Given the description of an element on the screen output the (x, y) to click on. 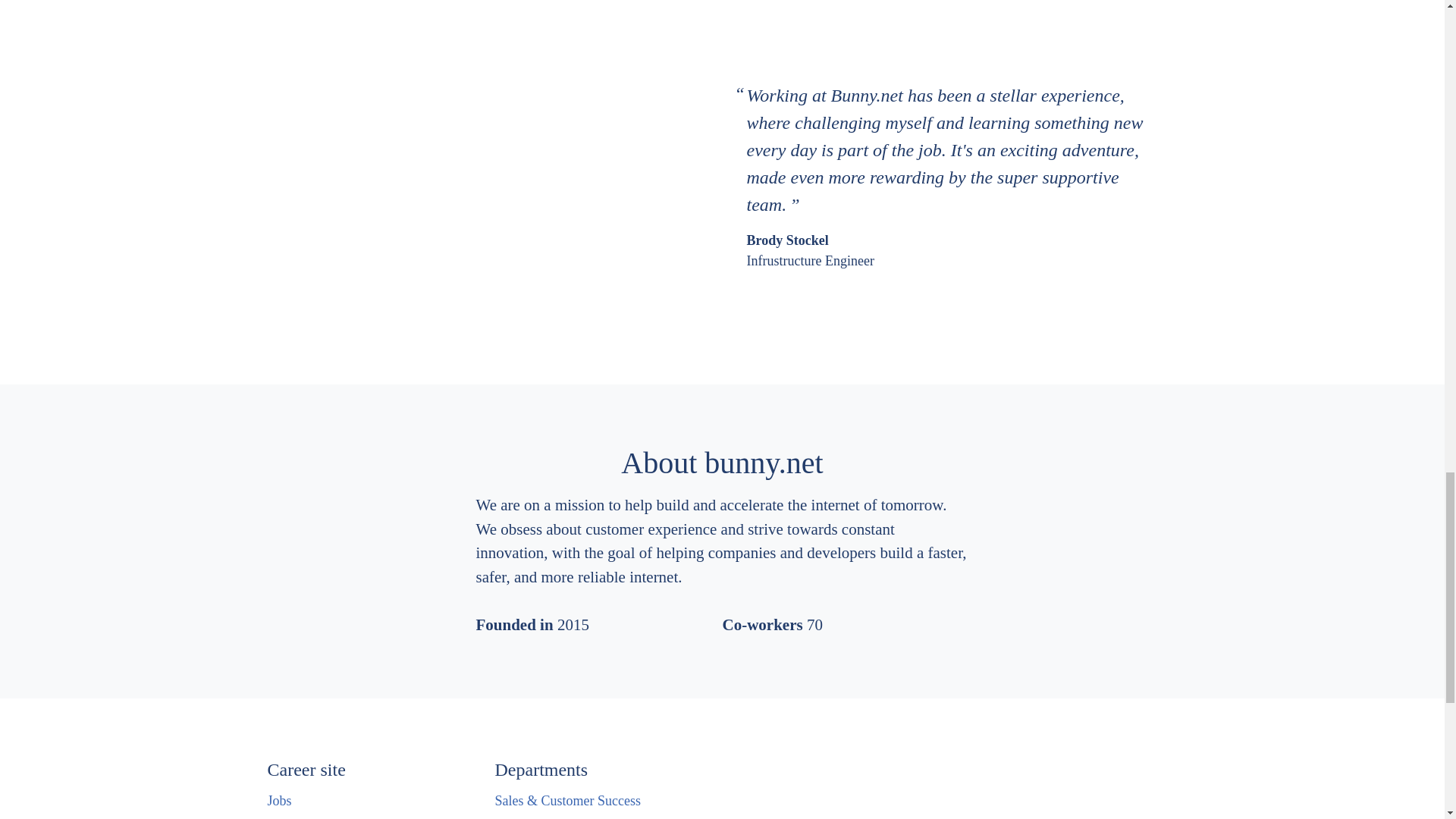
Jobs (278, 800)
People (285, 816)
Support (516, 816)
